Given the description of an element on the screen output the (x, y) to click on. 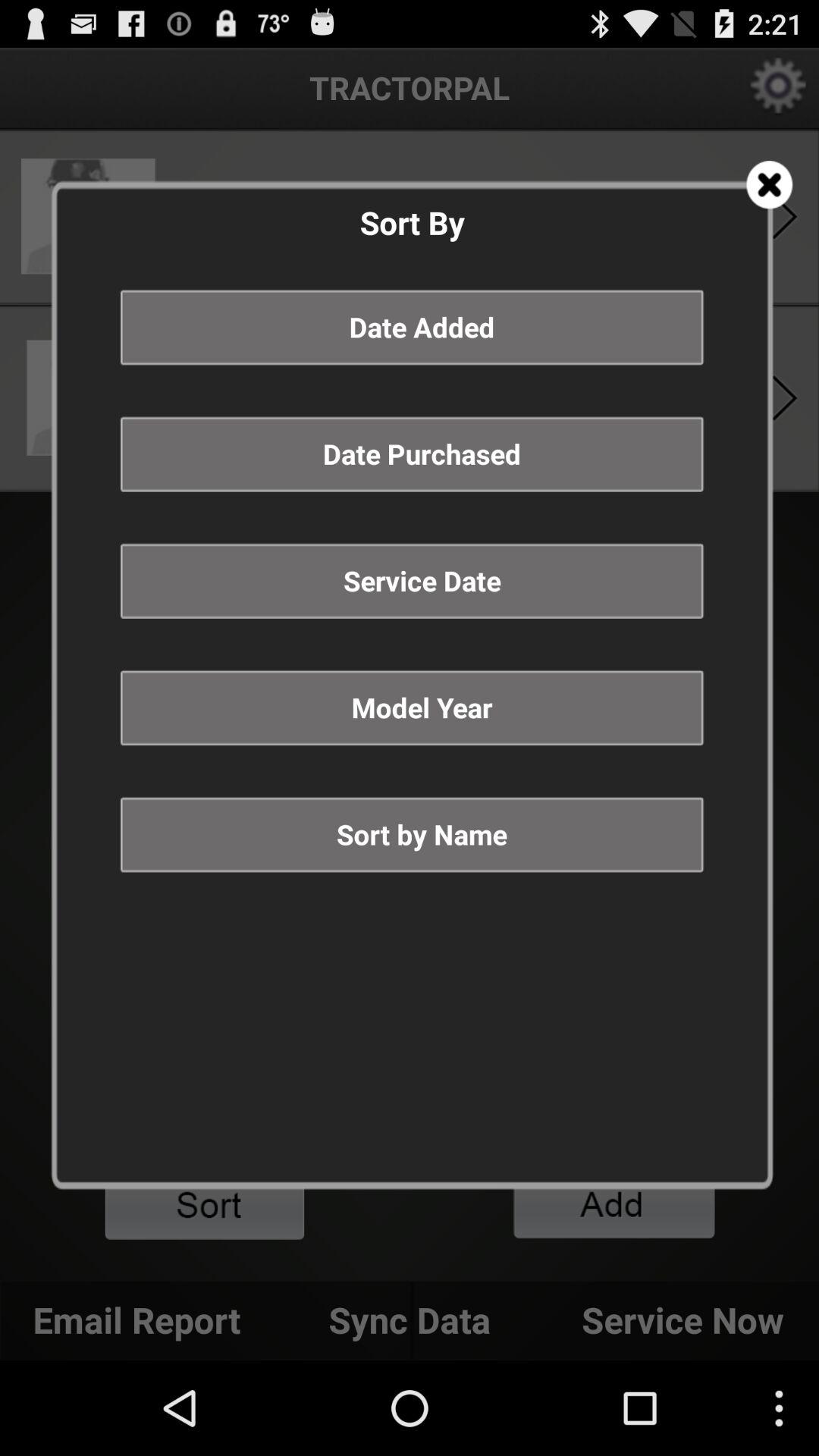
turn off app to the right of sort by item (769, 184)
